Given the description of an element on the screen output the (x, y) to click on. 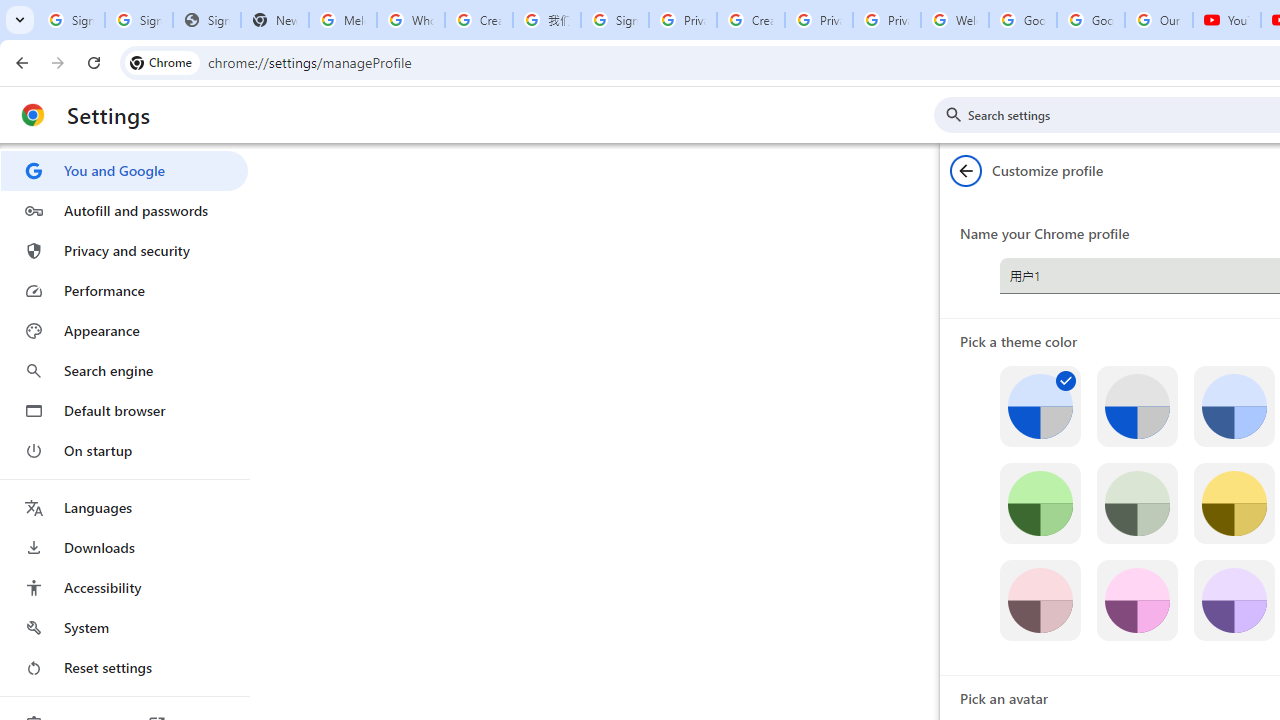
Create your Google Account (479, 20)
On startup (124, 450)
Google Account (1091, 20)
Downloads (124, 547)
Languages (124, 507)
Who is my administrator? - Google Account Help (411, 20)
Sign in - Google Accounts (614, 20)
